Given the description of an element on the screen output the (x, y) to click on. 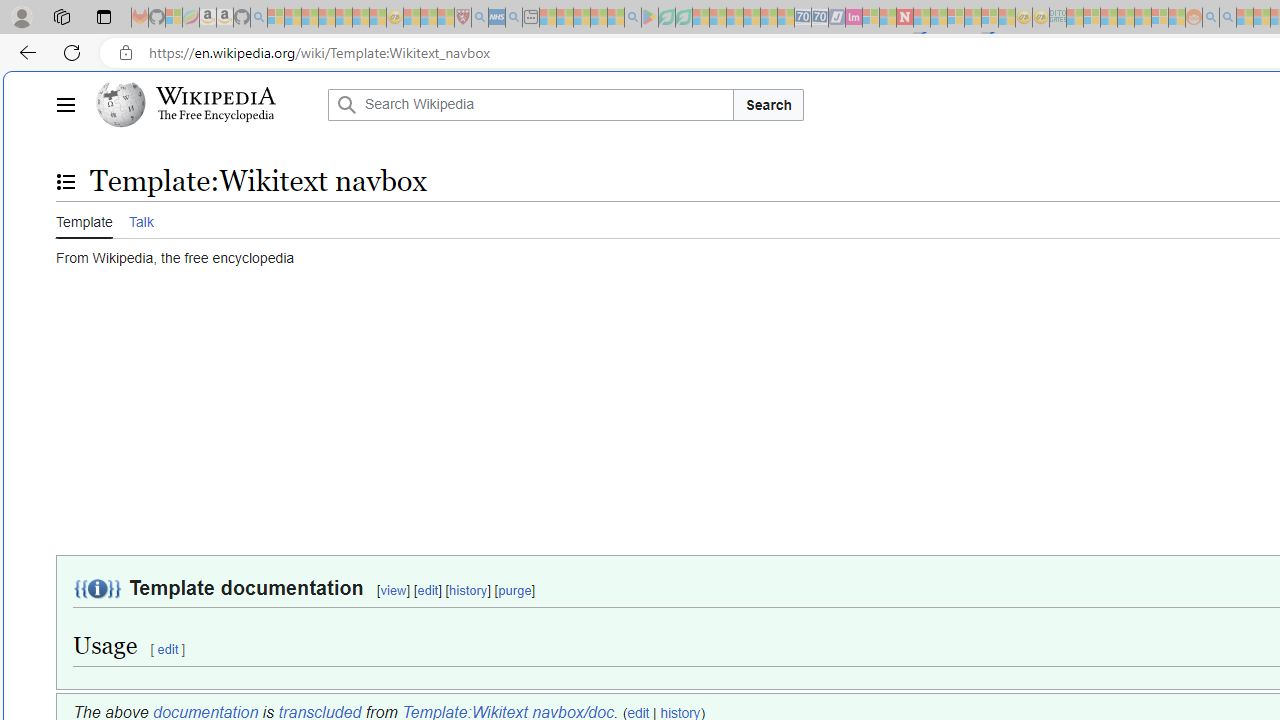
Toggle the table of contents (65, 181)
edit (168, 648)
Main menu (65, 104)
